Given the description of an element on the screen output the (x, y) to click on. 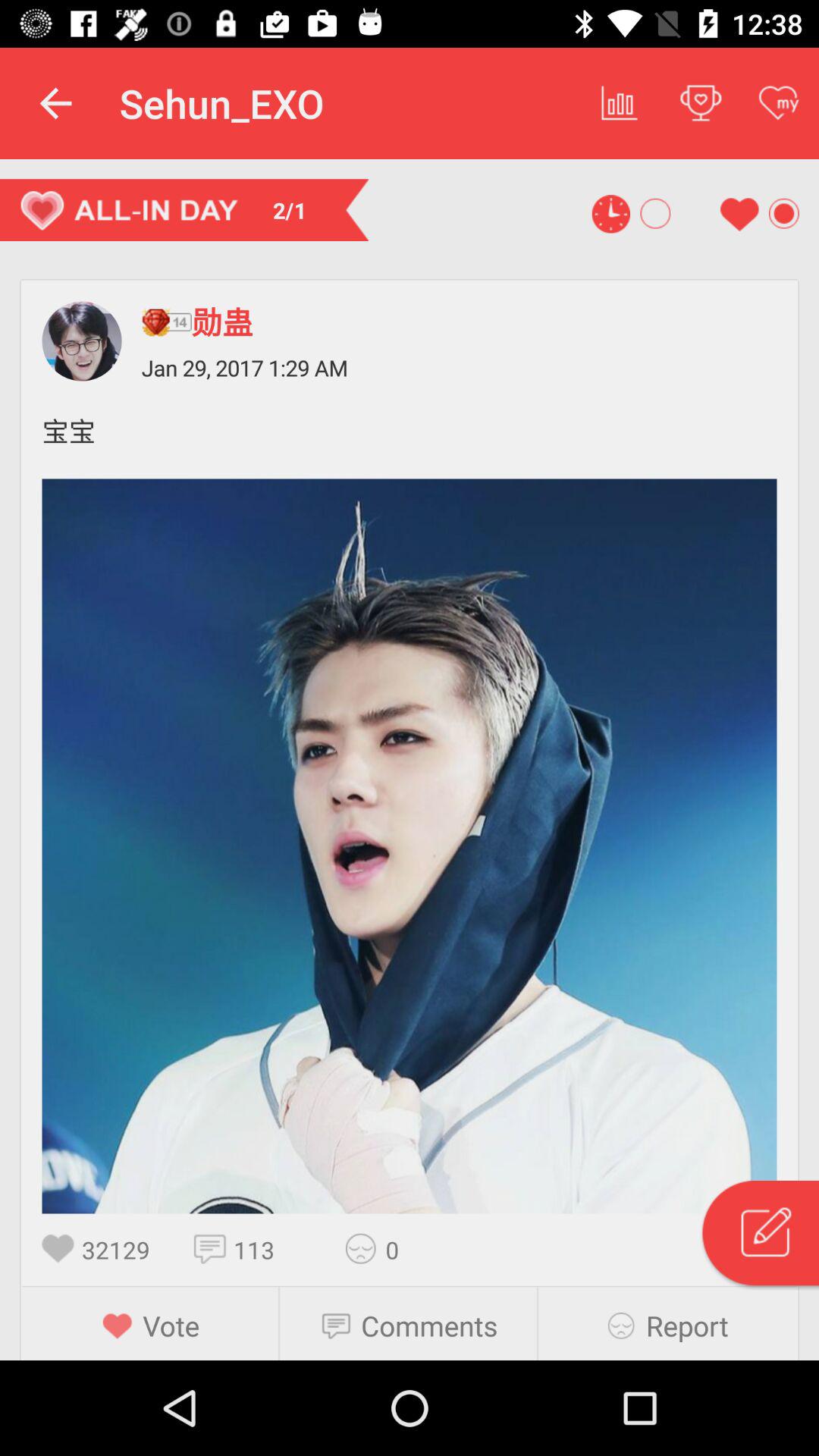
shows profile option (81, 341)
